Given the description of an element on the screen output the (x, y) to click on. 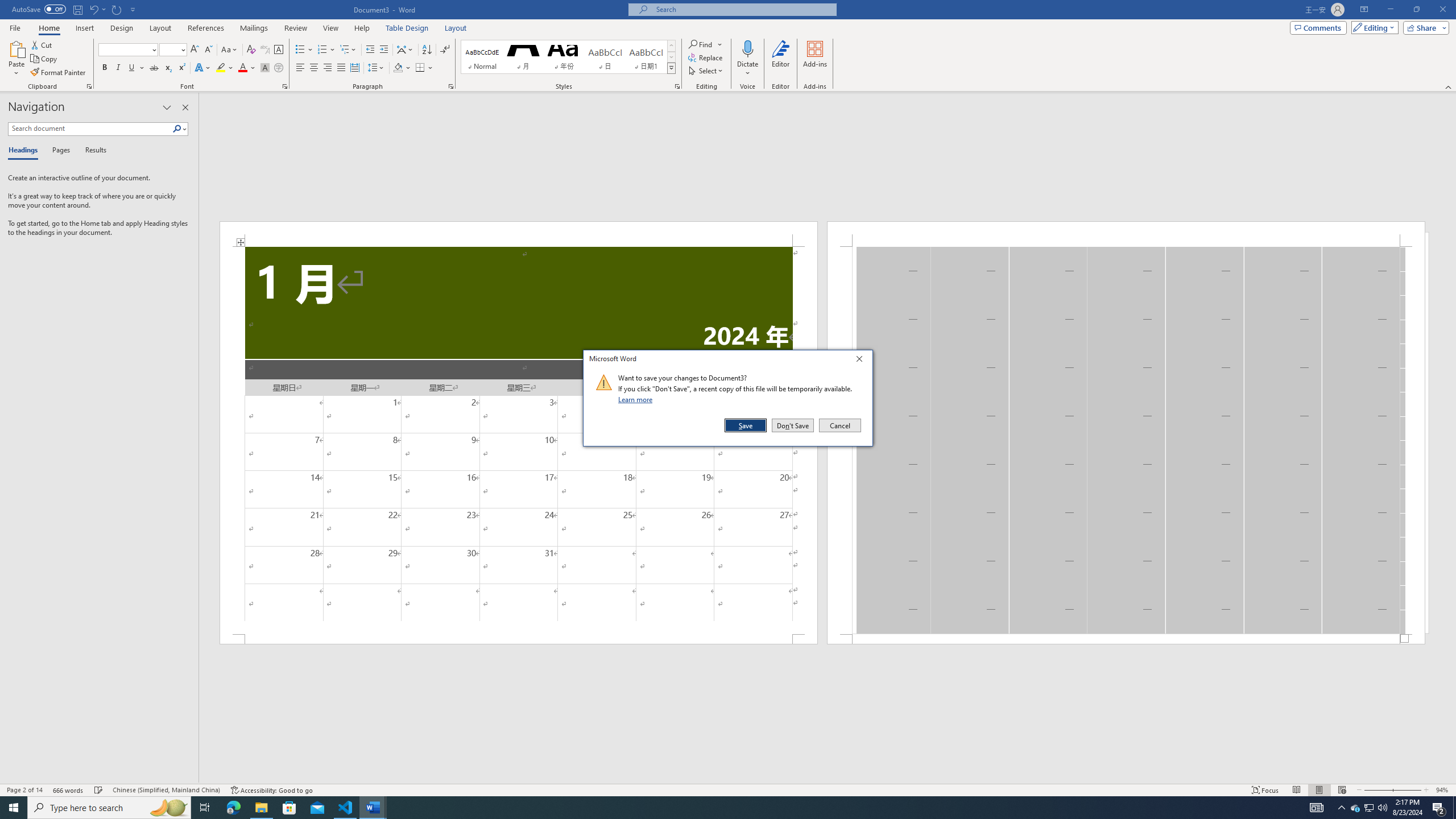
Learn more (636, 399)
Phonetic Guide... (264, 49)
Search highlights icon opens search home window (167, 807)
Action Center, 2 new notifications (1439, 807)
